Given the description of an element on the screen output the (x, y) to click on. 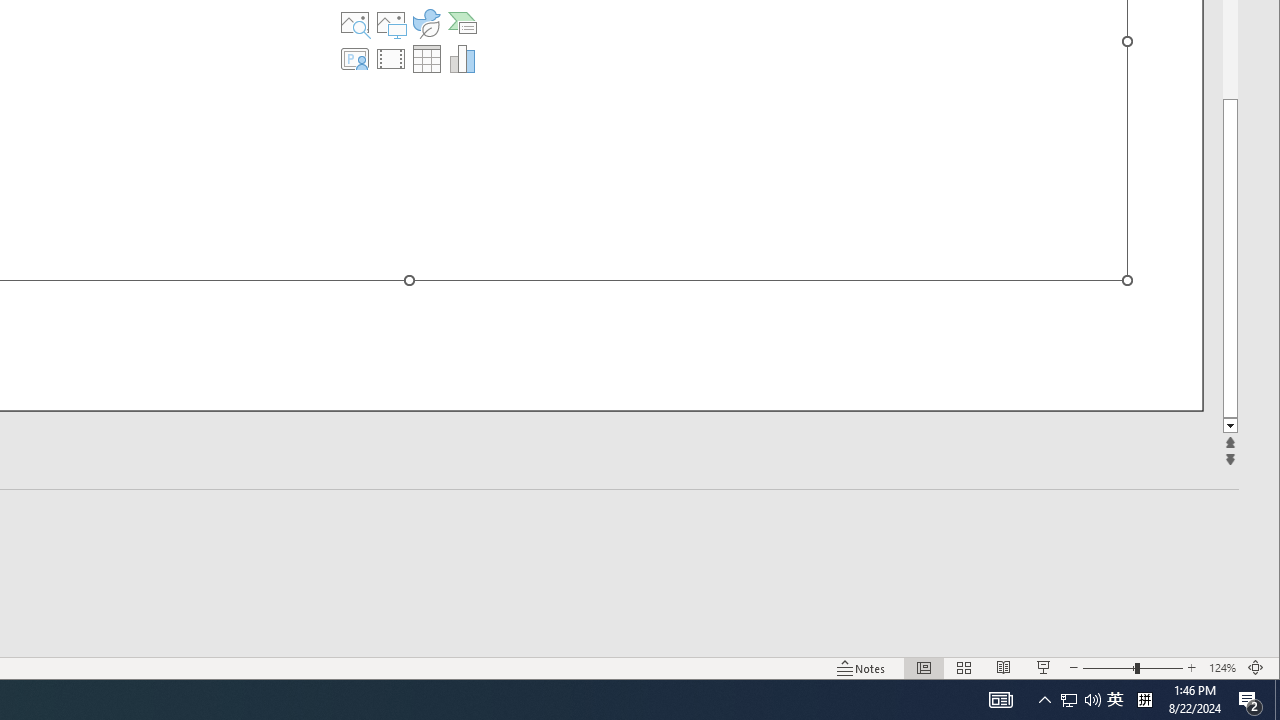
Zoom to Fit  (1256, 668)
AutomationID: 4105 (1000, 699)
Zoom In (1191, 668)
Show desktop (1277, 699)
Zoom Out (1115, 699)
Zoom 124% (1108, 668)
Notification Chevron (1222, 668)
Q2790: 100% (1044, 699)
Line down (1069, 699)
Insert Chart (1092, 699)
Action Center, 2 new notifications (1230, 426)
Insert an Icon (462, 58)
